Given the description of an element on the screen output the (x, y) to click on. 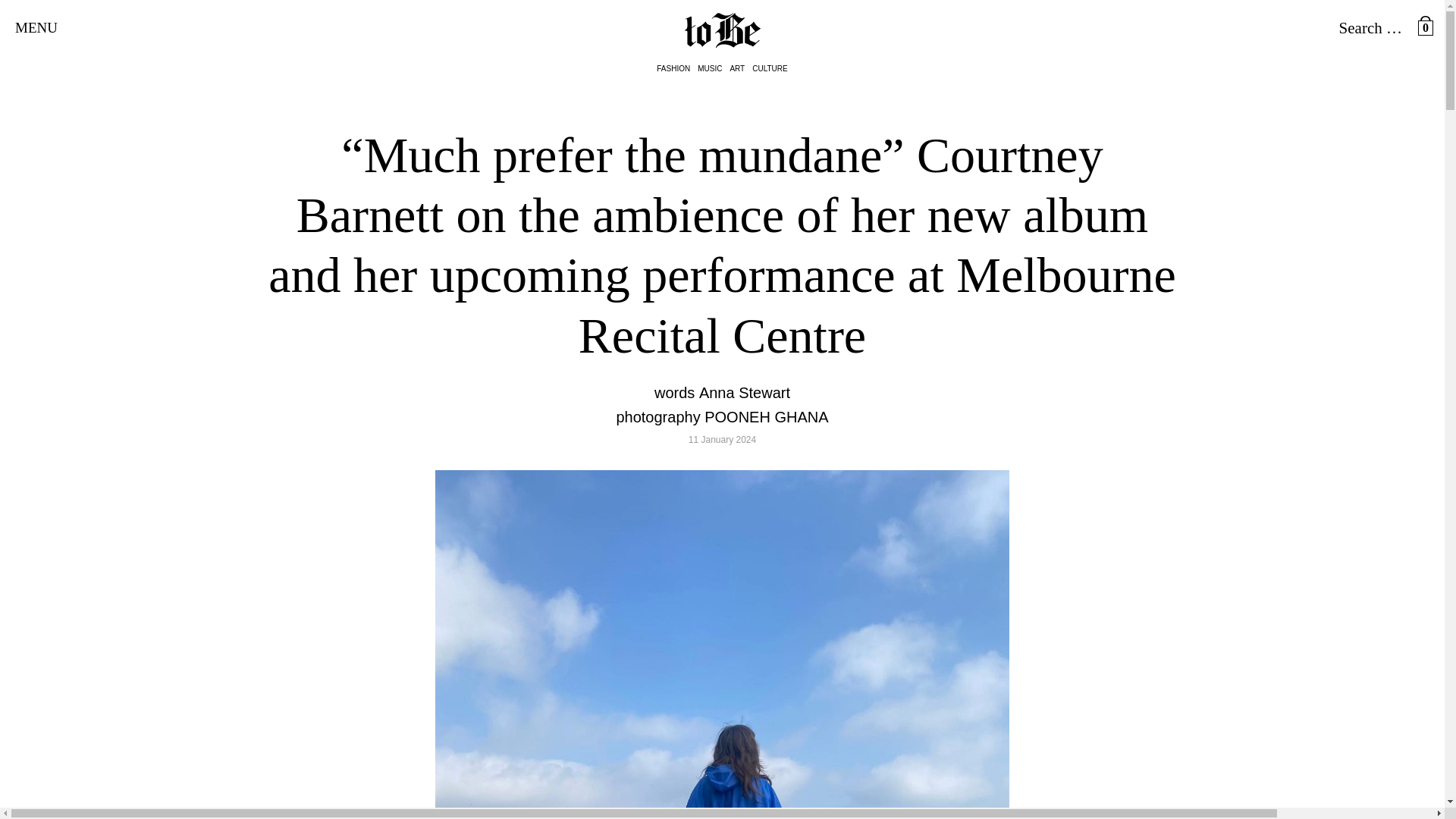
ART (736, 69)
FASHION (673, 69)
Search (56, 9)
CULTURE (769, 69)
POONEH GHANA (766, 416)
MUSIC (709, 69)
Anna Stewart (744, 392)
